Given the description of an element on the screen output the (x, y) to click on. 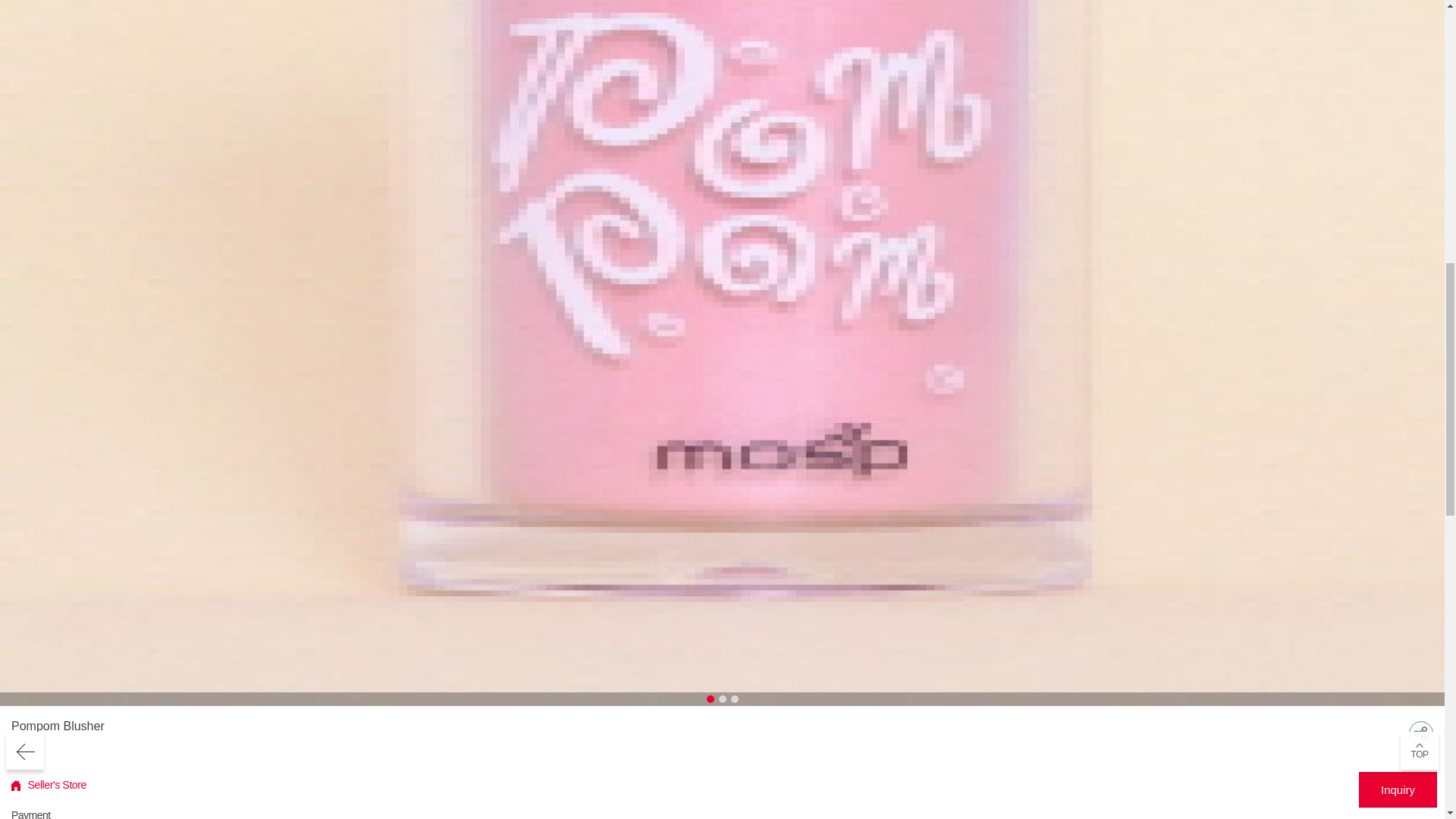
2 (722, 698)
1 (710, 698)
3 (734, 698)
Seller's Store (48, 785)
